Given the description of an element on the screen output the (x, y) to click on. 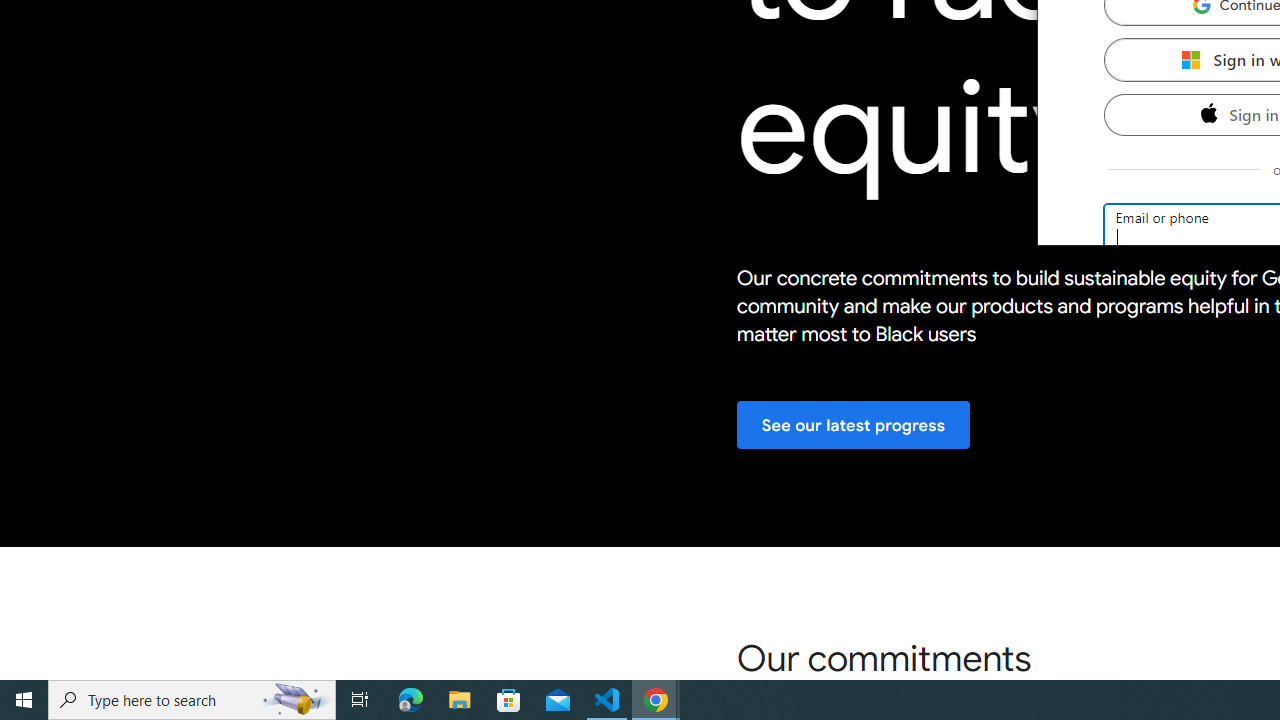
Microsoft (1190, 59)
Type here to search (191, 699)
Visual Studio Code - 1 running window (607, 699)
File Explorer (460, 699)
Search highlights icon opens search home window (295, 699)
Task View (359, 699)
Microsoft Store (509, 699)
Google Chrome - 3 running windows (656, 699)
Microsoft Edge (411, 699)
Start (24, 699)
